Given the description of an element on the screen output the (x, y) to click on. 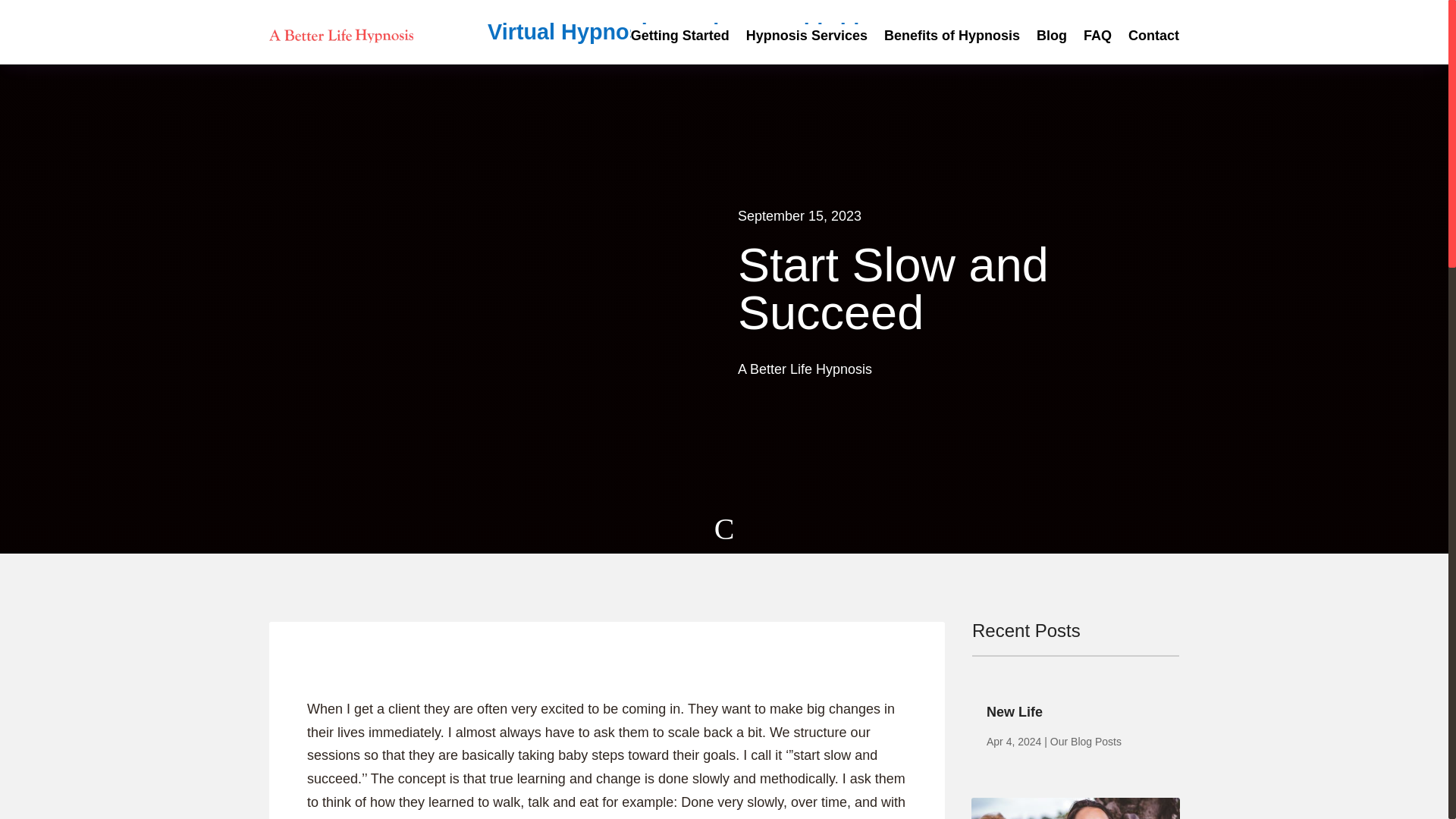
Benefits of Hypnosis (951, 38)
Contact (1153, 38)
New Life (1014, 711)
C (724, 534)
Our Blog Posts (1085, 741)
Blog (1051, 38)
Hypnosis Services (806, 38)
a better life hypnosis schema logo (341, 35)
Getting Started (679, 38)
FAQ (1097, 38)
